Given the description of an element on the screen output the (x, y) to click on. 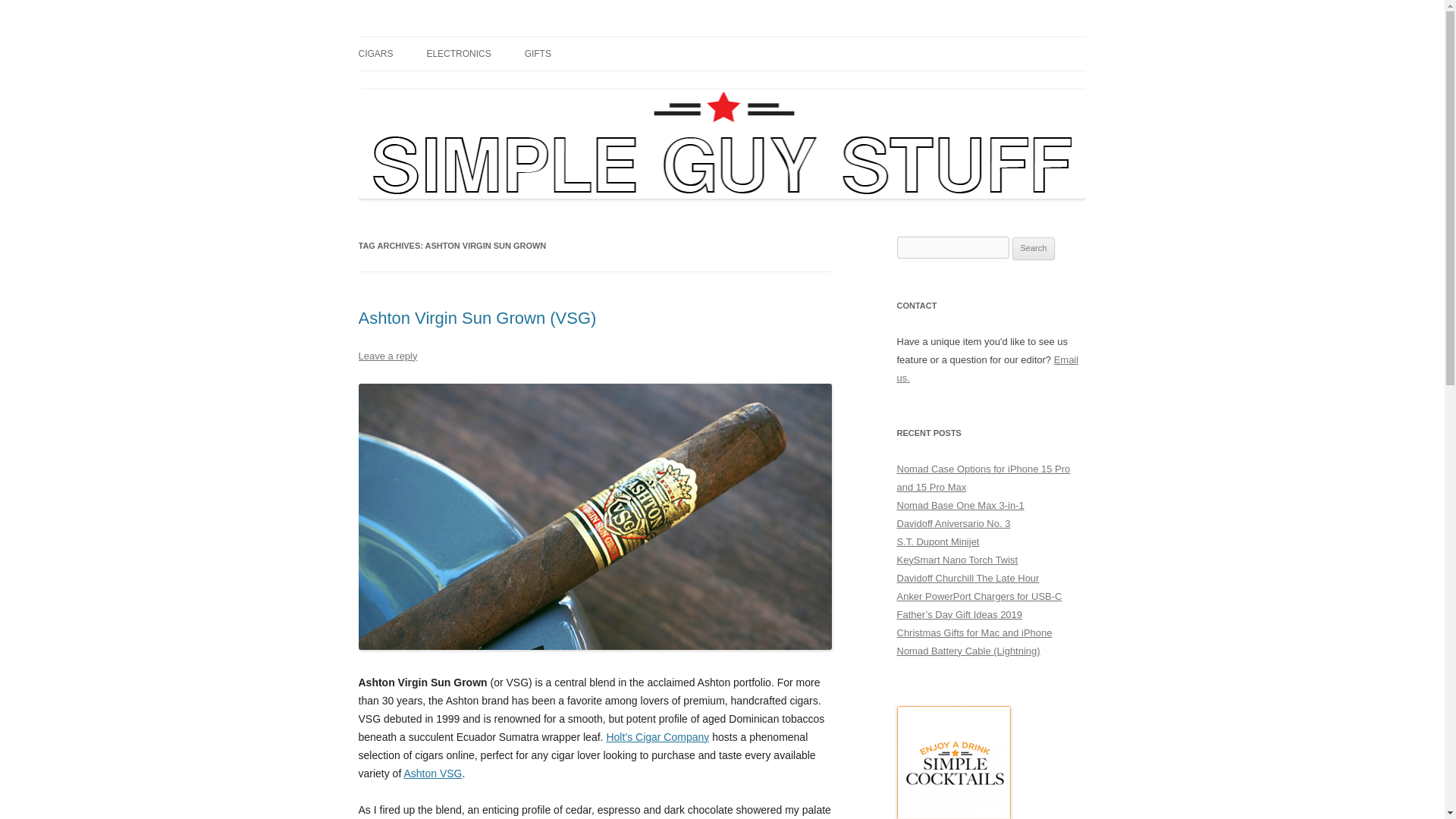
Christmas Gifts for Mac and iPhone (973, 632)
Anker PowerPort Chargers for USB-C (978, 595)
Email us. (987, 368)
Davidoff Churchill The Late Hour (967, 577)
S.T. Dupont Minijet (937, 541)
Simple Guy Stuff (437, 36)
Search (1033, 248)
Leave a reply (387, 355)
Ashton VSG (432, 773)
ELECTRONICS (458, 53)
